Given the description of an element on the screen output the (x, y) to click on. 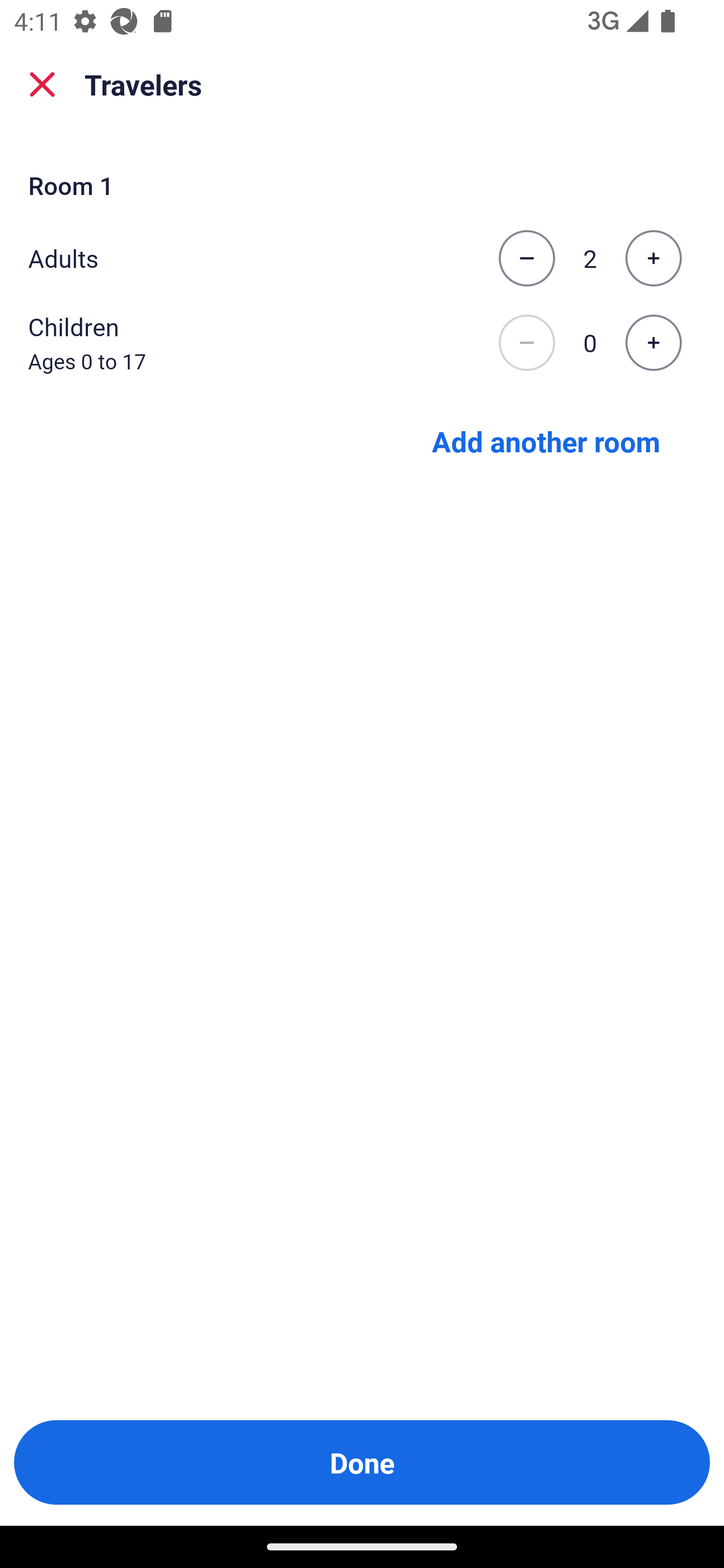
close (42, 84)
Decrease the number of adults (526, 258)
Increase the number of adults (653, 258)
Decrease the number of children (526, 343)
Increase the number of children (653, 343)
Add another room (545, 440)
Done (361, 1462)
